Given the description of an element on the screen output the (x, y) to click on. 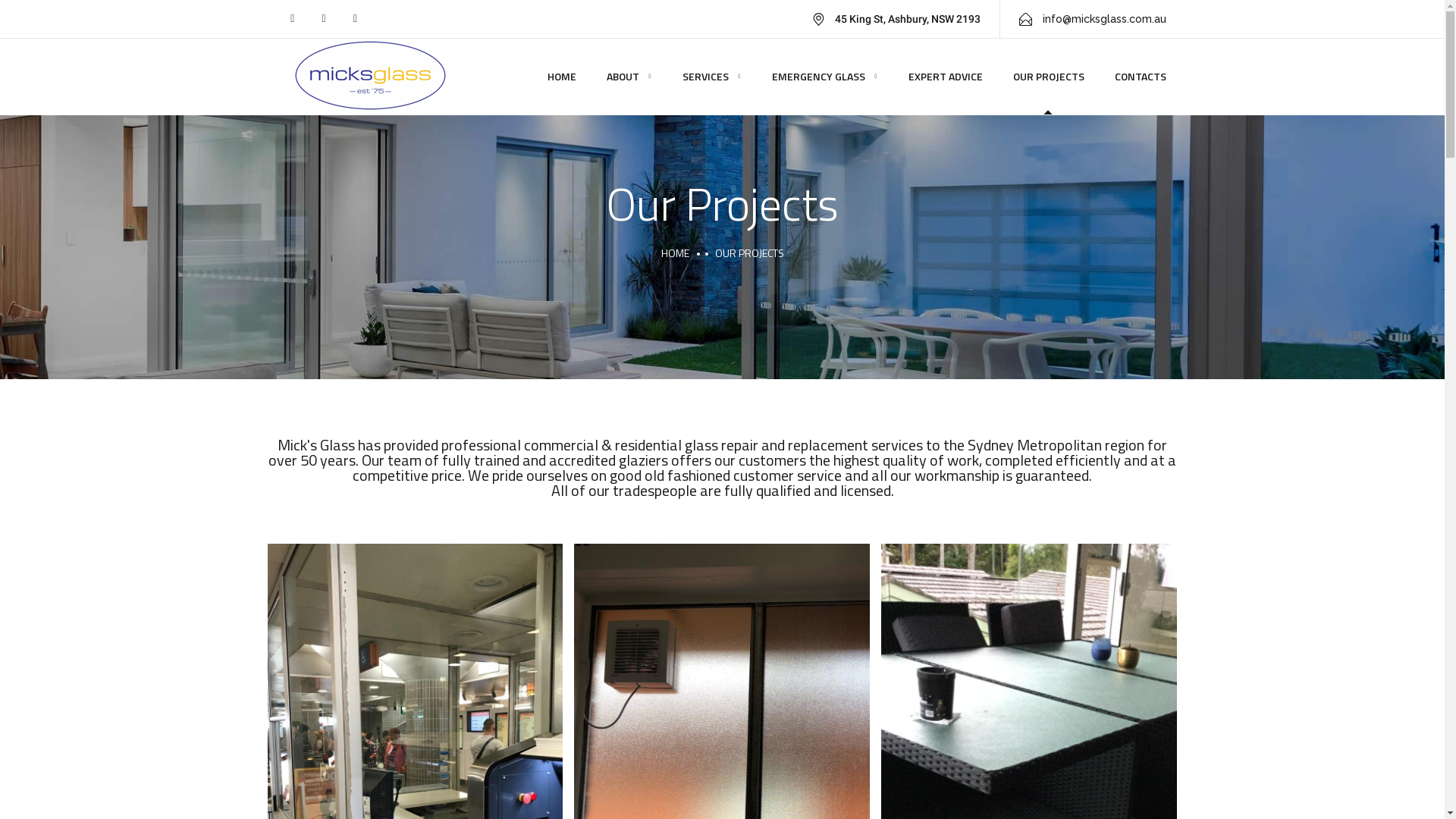
CONTACTS Element type: text (1140, 76)
EXPERT ADVICE Element type: text (945, 76)
HOME Element type: text (561, 76)
HOME Element type: text (675, 252)
EMERGENCY GLASS Element type: text (824, 76)
ABOUT Element type: text (629, 76)
info@micksglass.com.au Element type: text (1092, 18)
OUR PROJECTS Element type: text (1048, 76)
SERVICES Element type: text (711, 76)
